Given the description of an element on the screen output the (x, y) to click on. 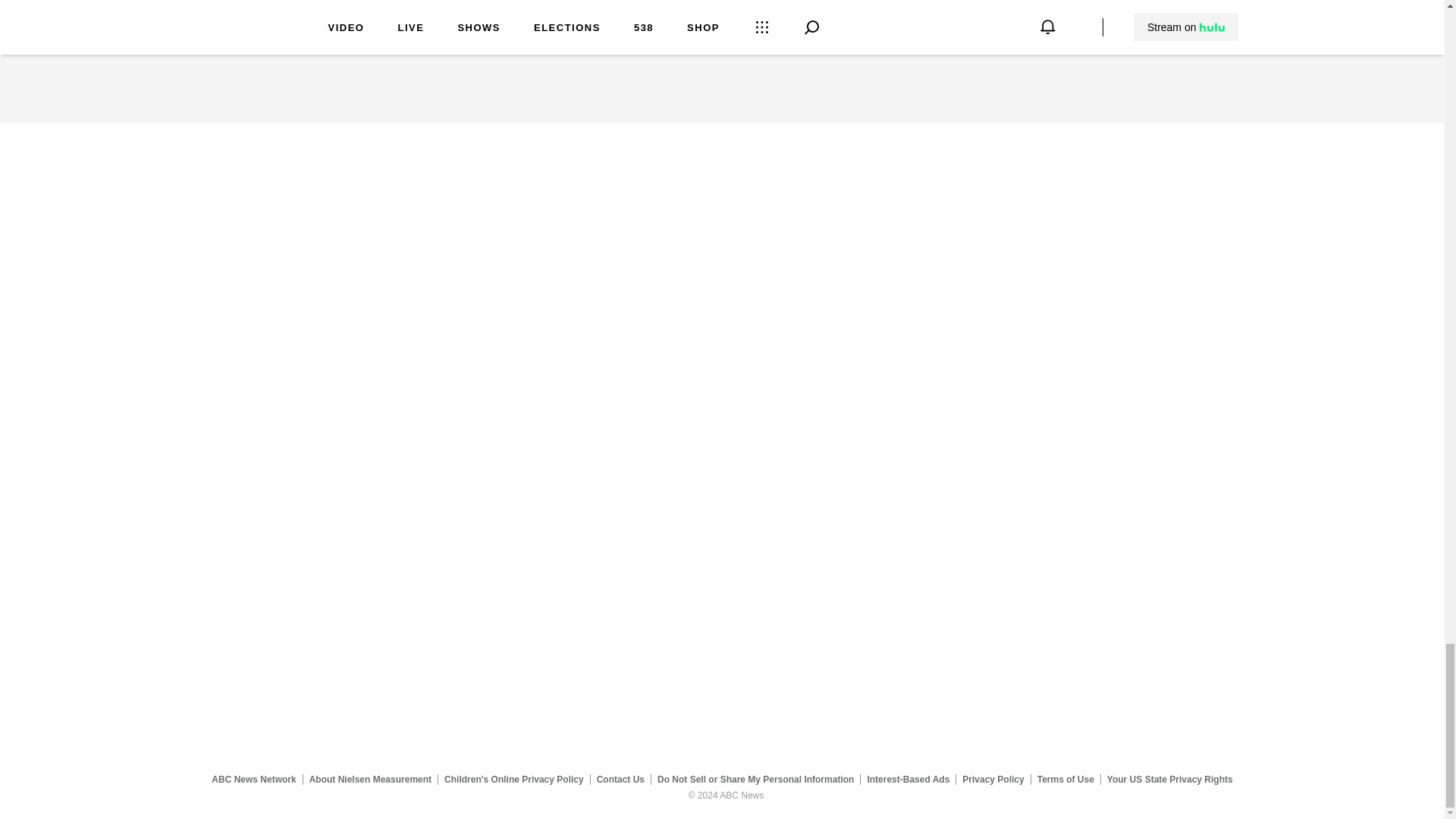
Interest-Based Ads (908, 778)
About Nielsen Measurement (370, 778)
ABC News Network (253, 778)
Do Not Sell or Share My Personal Information (755, 778)
Contact Us (620, 778)
Your US State Privacy Rights (1169, 778)
Terms of Use (1065, 778)
Privacy Policy (993, 778)
Children's Online Privacy Policy (514, 778)
